Given the description of an element on the screen output the (x, y) to click on. 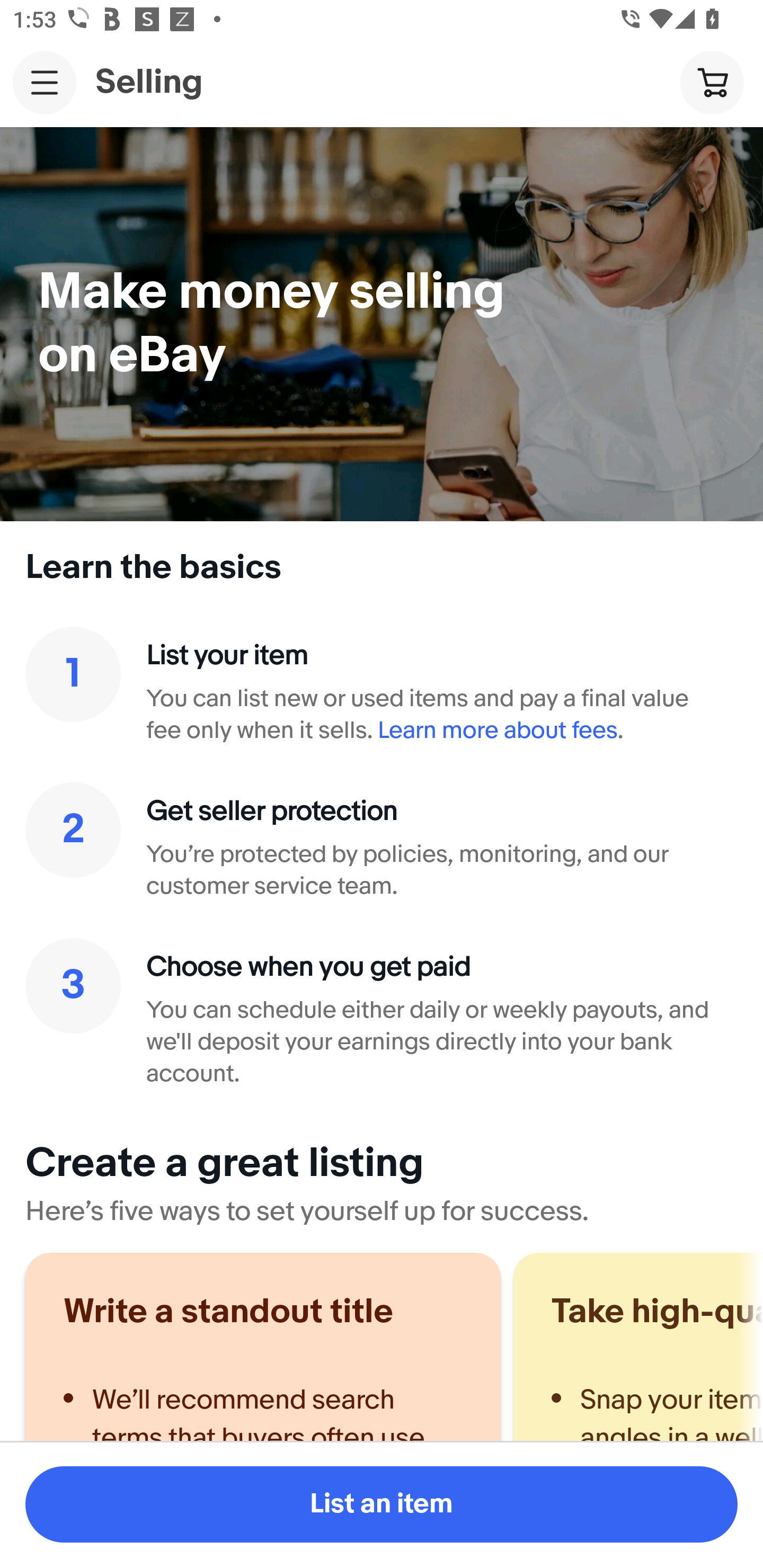
Main navigation, open (44, 82)
Cart button shopping cart (711, 81)
List an item (381, 1504)
